Given the description of an element on the screen output the (x, y) to click on. 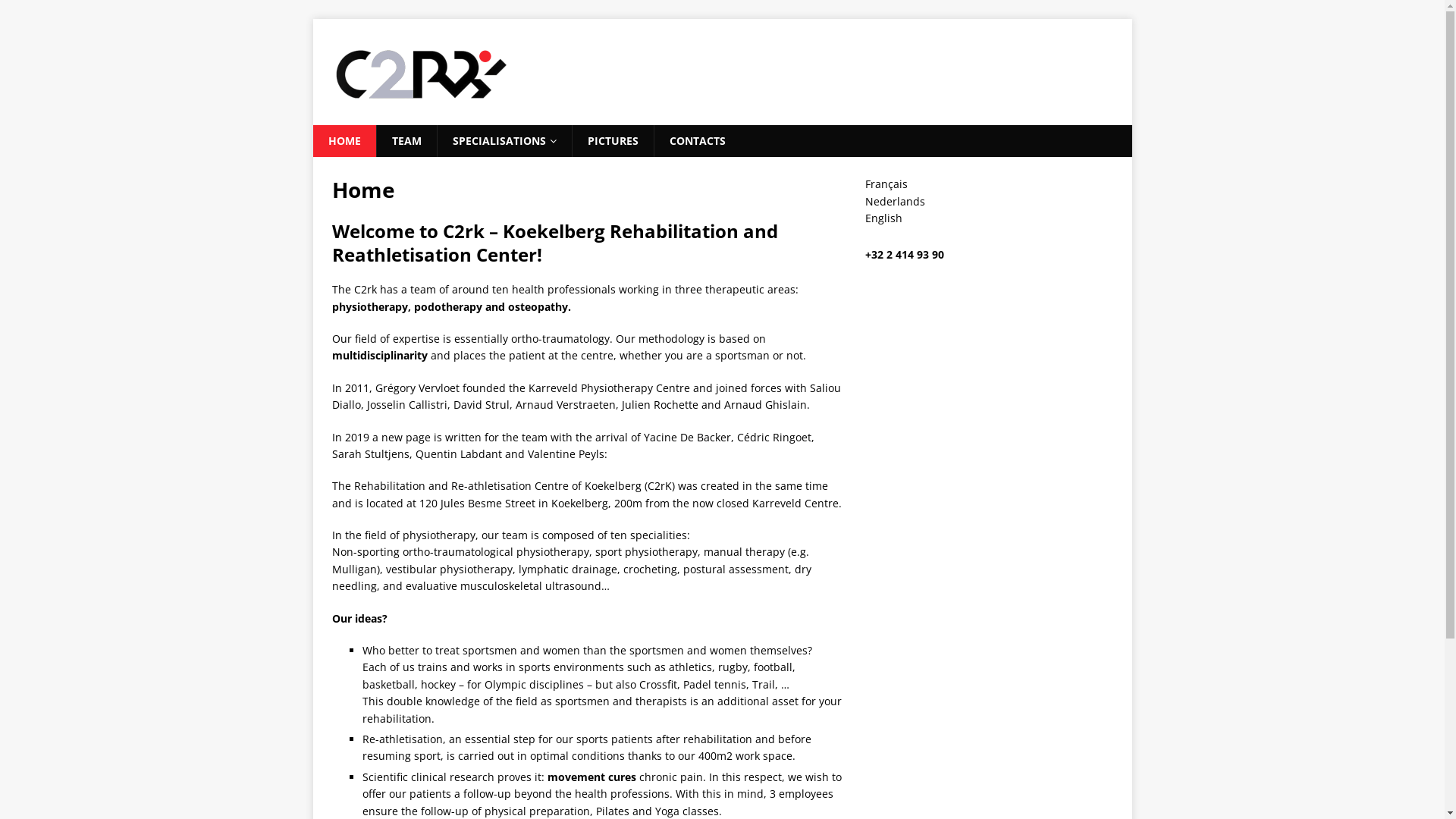
HOME Element type: text (343, 140)
TEAM Element type: text (406, 140)
SPECIALISATIONS Element type: text (503, 140)
CONTACTS Element type: text (696, 140)
English Element type: text (883, 217)
PICTURES Element type: text (612, 140)
Nederlands Element type: text (895, 201)
